Given the description of an element on the screen output the (x, y) to click on. 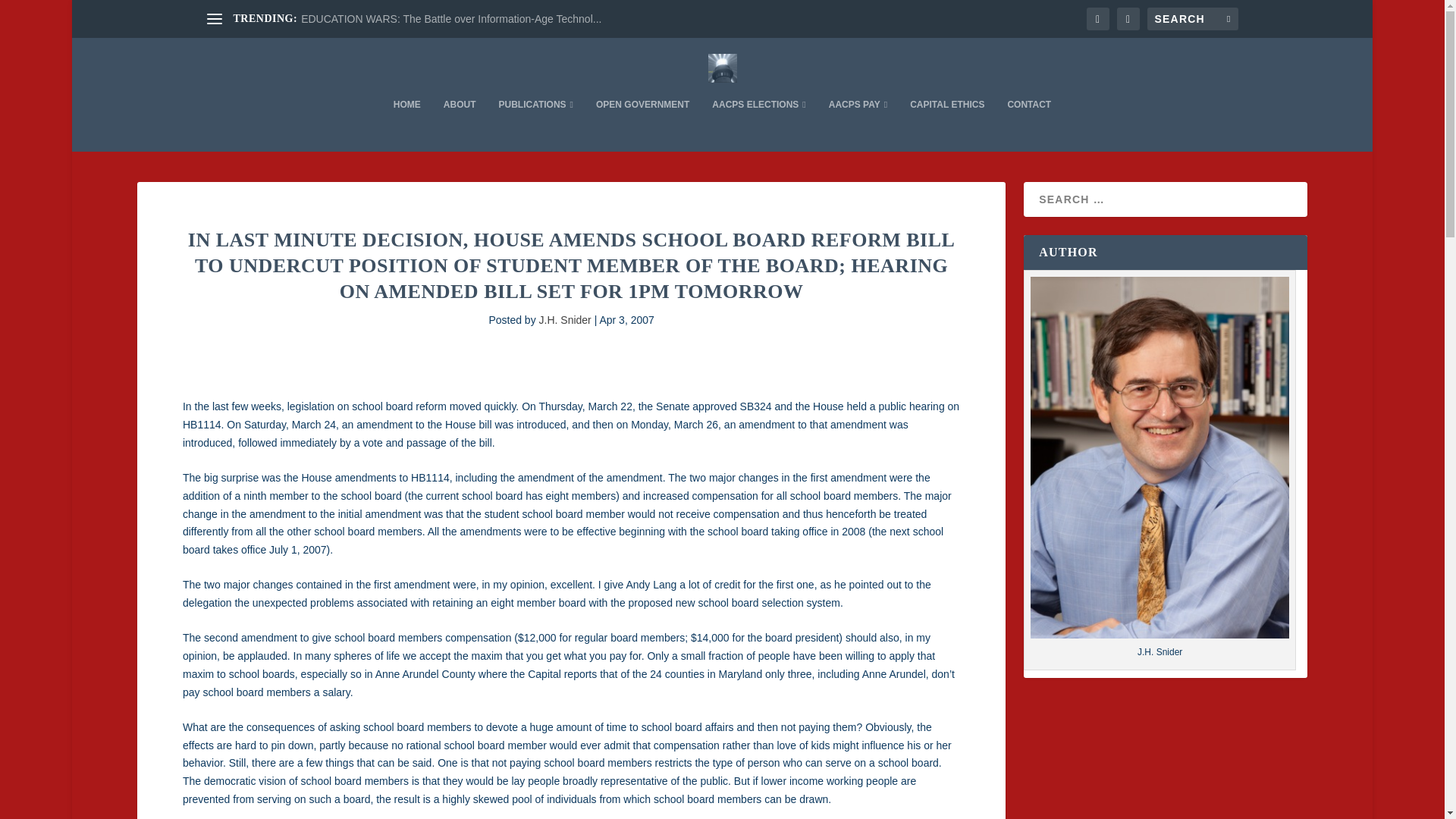
Search for: (1192, 18)
PUBLICATIONS (535, 124)
Posts by J.H. Snider (564, 319)
EDUCATION WARS: The Battle over Information-Age Technol... (451, 19)
AACPS ELECTIONS (758, 124)
OPEN GOVERNMENT (641, 124)
